Given the description of an element on the screen output the (x, y) to click on. 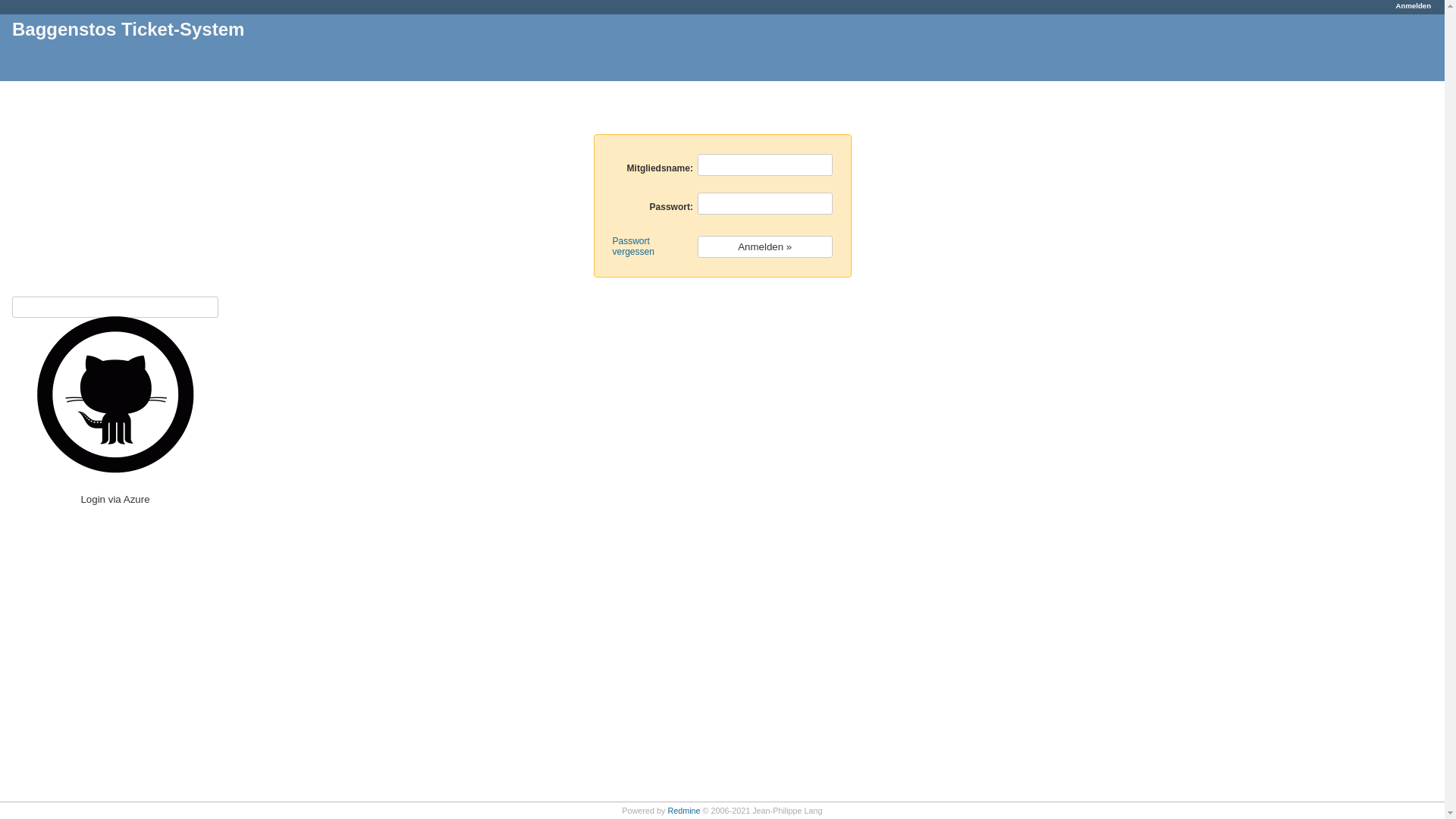
Login via Azure Element type: text (115, 306)
Anmelden Element type: text (1413, 5)
Redmine Element type: text (683, 810)
Login via Azure Element type: text (115, 306)
Passwort vergessen Element type: text (633, 246)
